Given the description of an element on the screen output the (x, y) to click on. 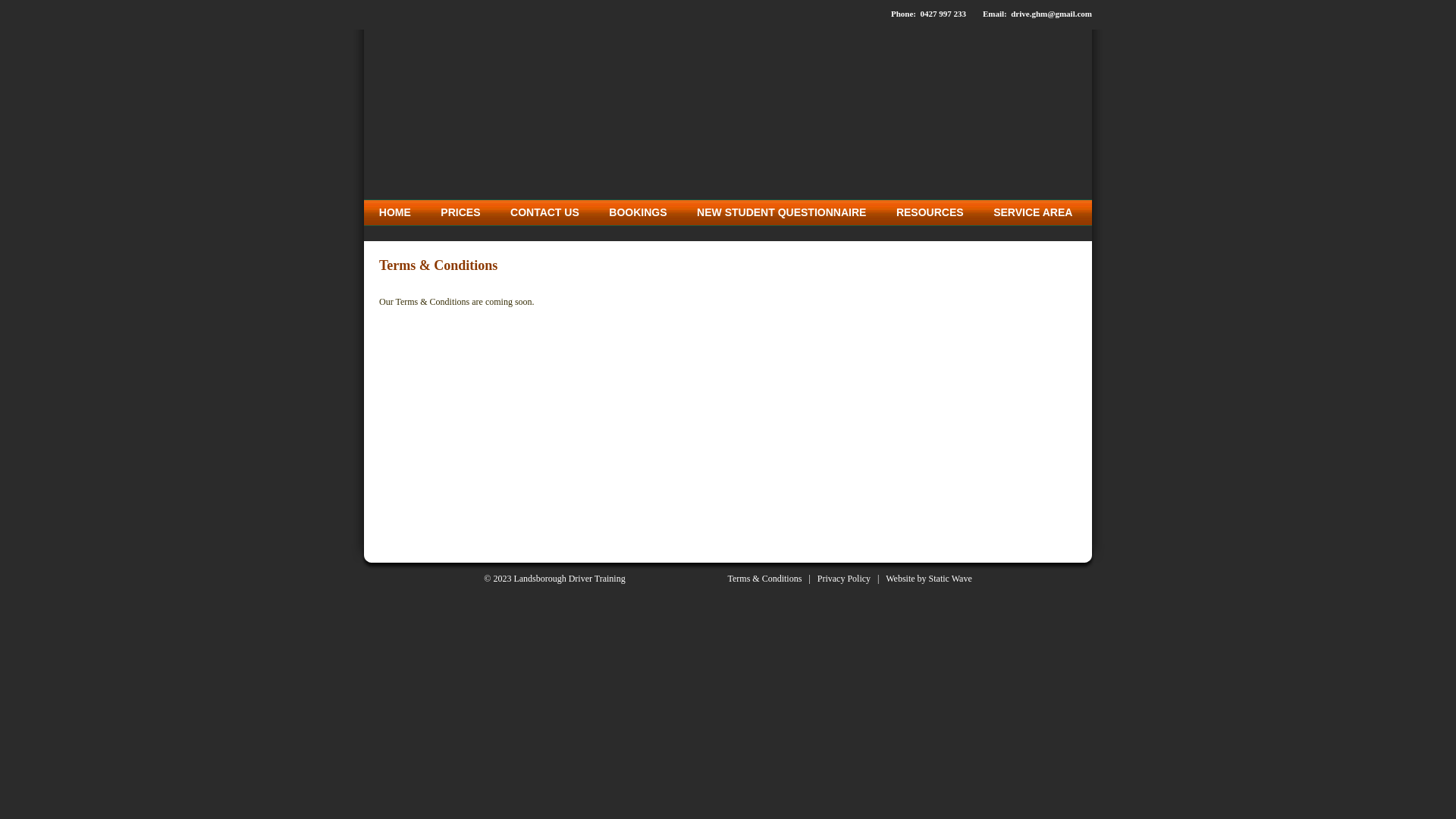
  RESOURCES   Element type: text (929, 212)
  SERVICE AREA   Element type: text (1032, 212)
  NEW STUDENT QUESTIONNAIRE   Element type: text (781, 212)
  HOME   Element type: text (395, 212)
  CONTACT US   Element type: text (544, 212)
  BOOKINGS   Element type: text (638, 212)
drive.ghm@gmail.com Element type: text (1051, 13)
Terms & Conditions Element type: text (765, 578)
Privacy Policy Element type: text (843, 578)
Website by Static Wave Element type: text (928, 578)
  PRICES   Element type: text (460, 212)
